Given the description of an element on the screen output the (x, y) to click on. 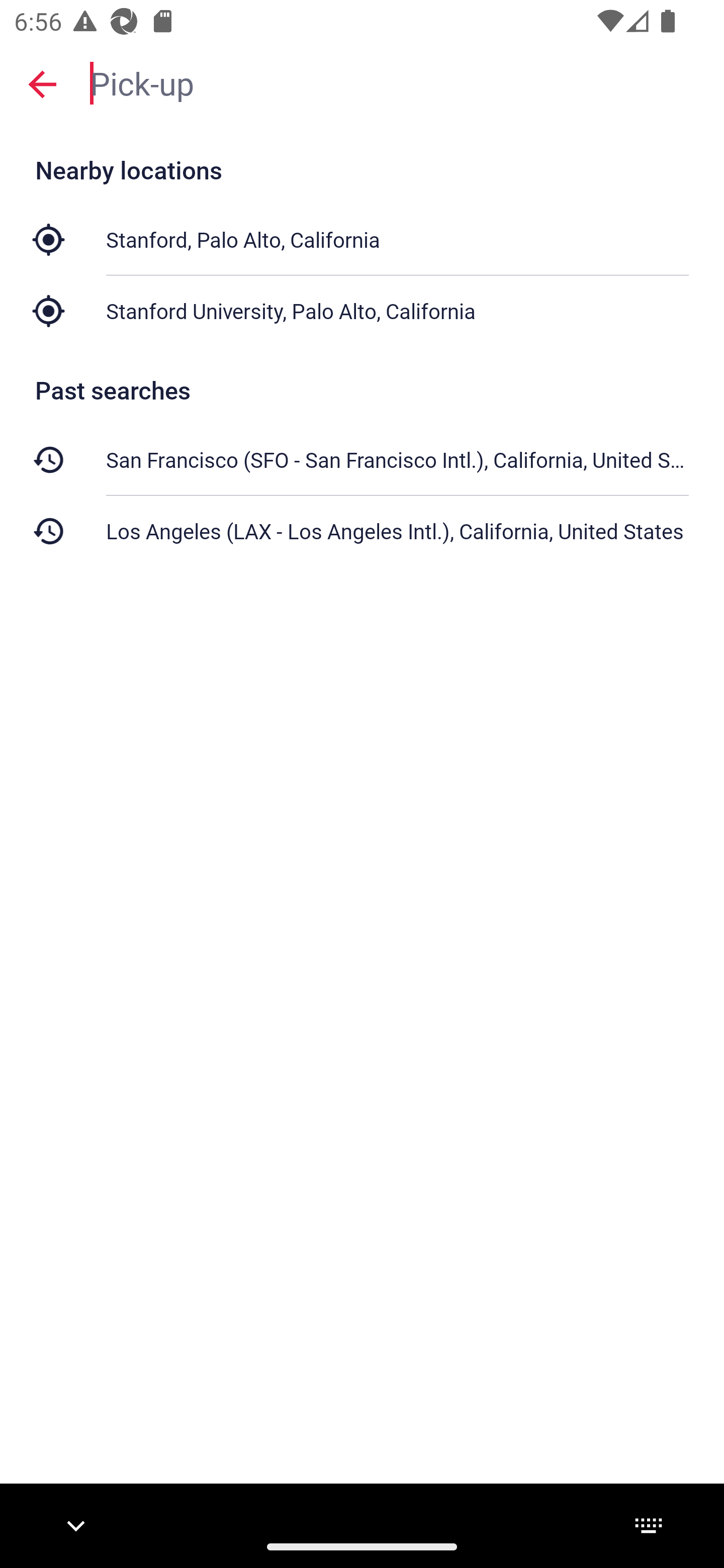
Pick-up,  (397, 82)
Close search screen (41, 83)
